Given the description of an element on the screen output the (x, y) to click on. 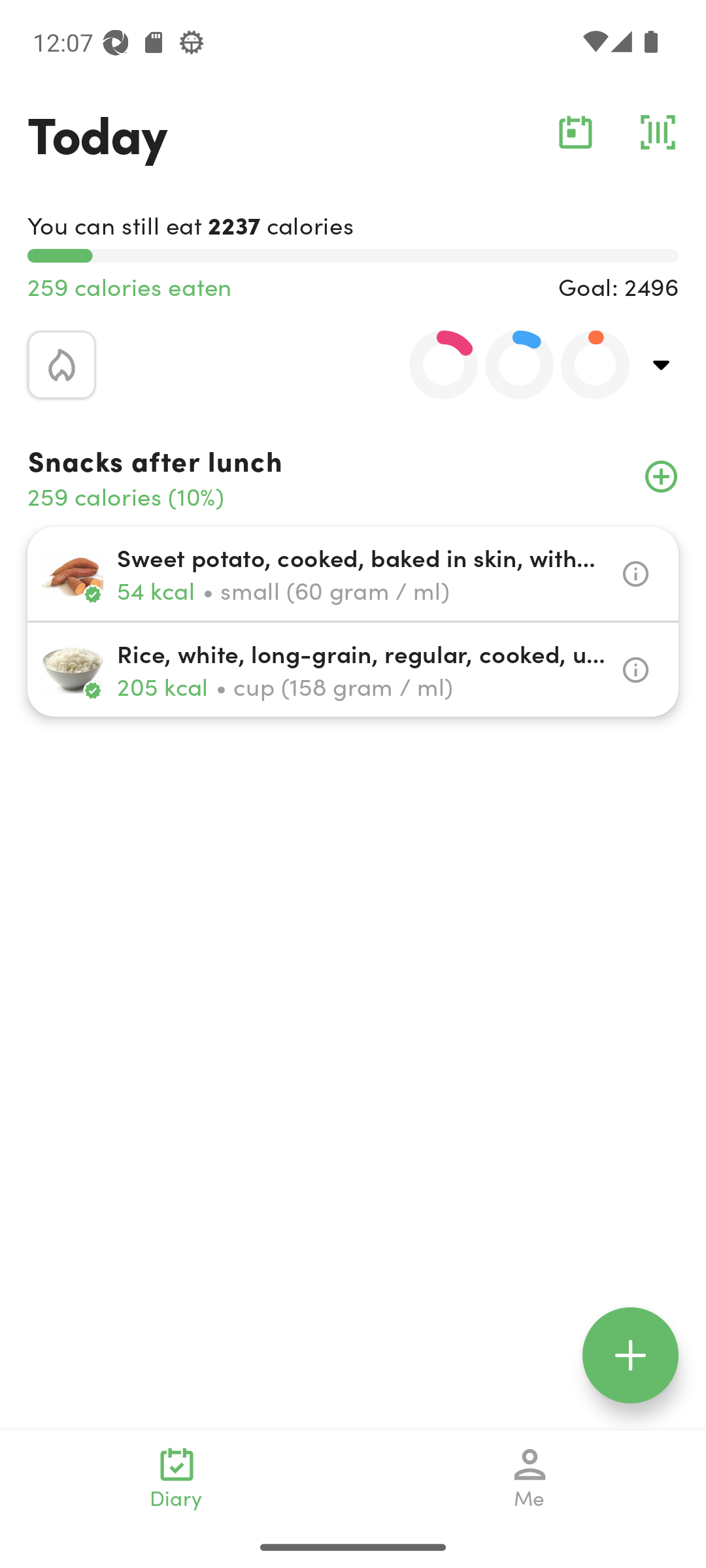
calendar_action (575, 132)
barcode_action (658, 132)
calorie_icon (62, 365)
0.15 0.09 0.01 (508, 365)
top_right_action (661, 365)
info_icon (636, 573)
info_icon (636, 669)
floating_action_icon (630, 1355)
Me navigation_icon (529, 1478)
